Given the description of an element on the screen output the (x, y) to click on. 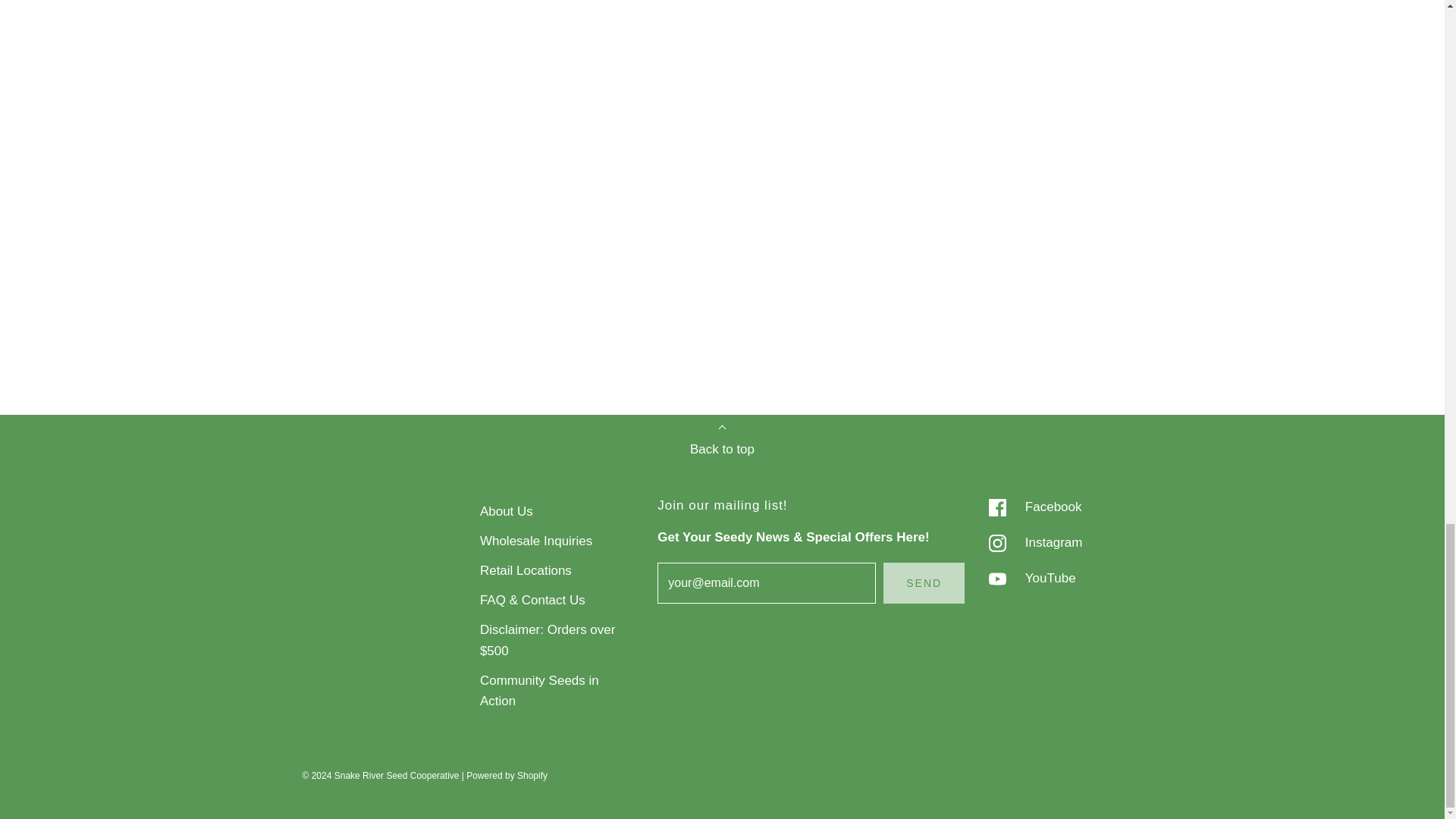
YouTube icon (997, 579)
Facebook icon (997, 507)
Instagram icon (997, 543)
